Given the description of an element on the screen output the (x, y) to click on. 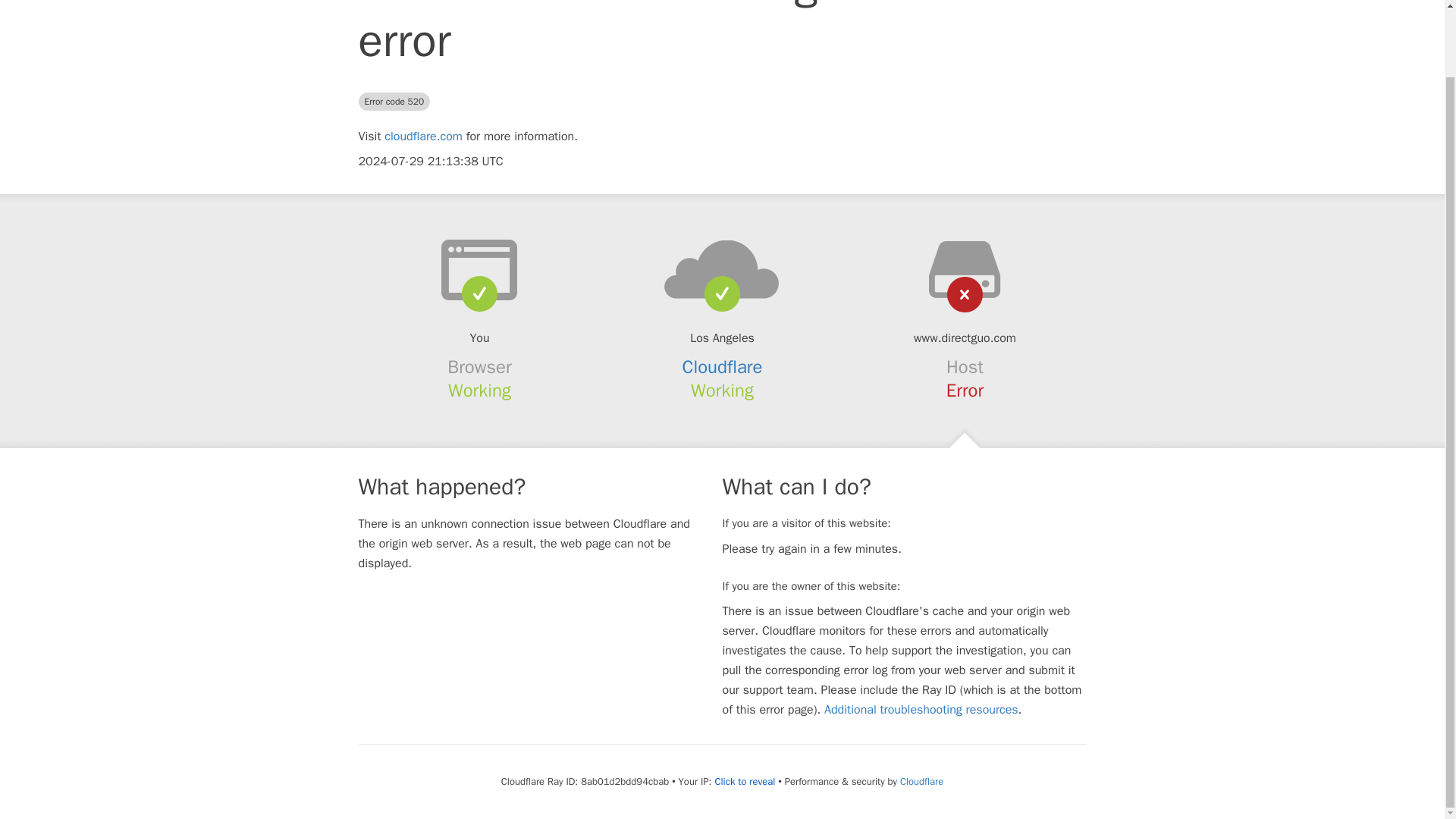
Cloudflare (921, 780)
Click to reveal (744, 781)
Additional troubleshooting resources (920, 709)
cloudflare.com (423, 136)
Cloudflare (722, 366)
